Given the description of an element on the screen output the (x, y) to click on. 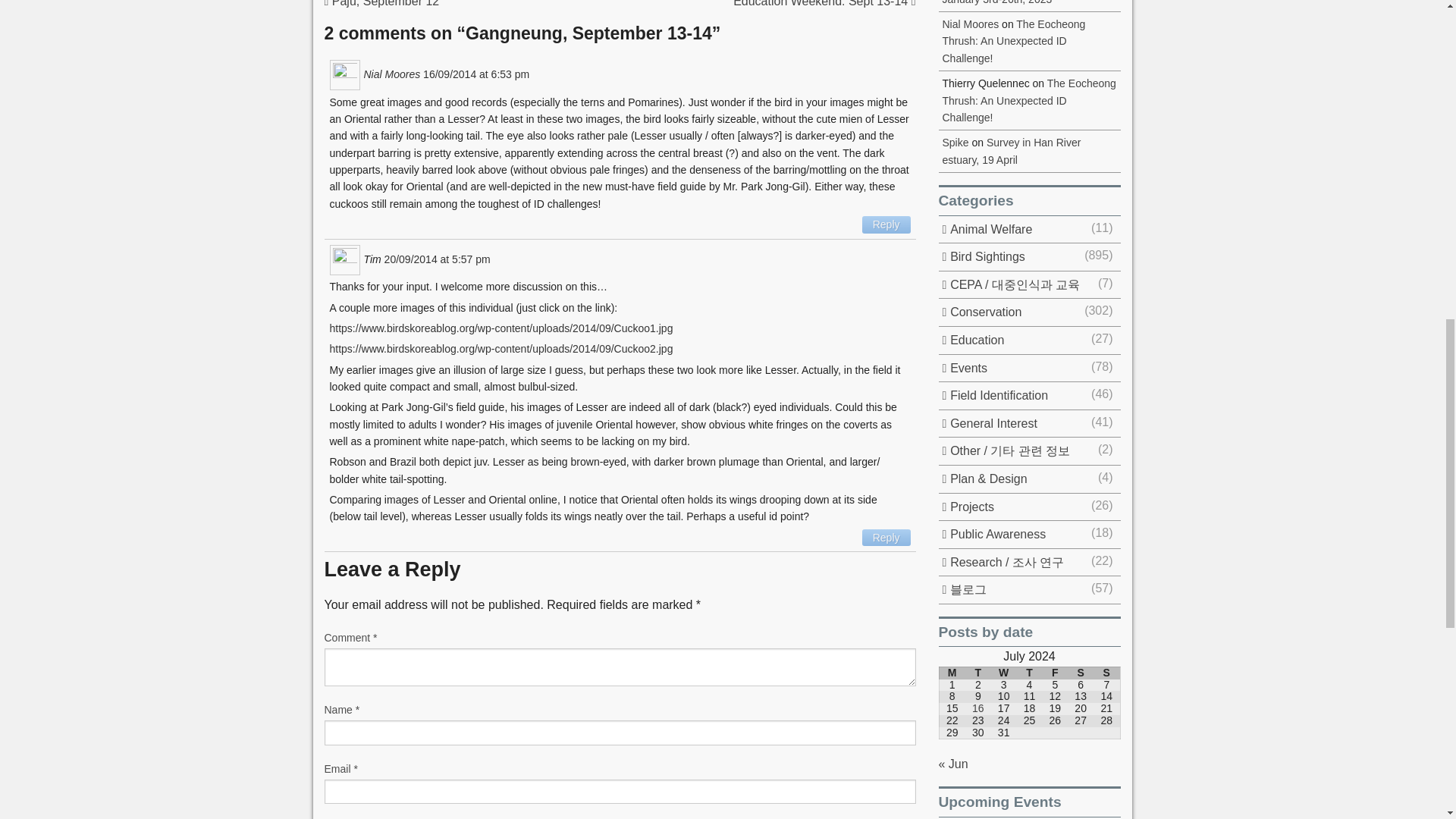
Nial Moores (392, 73)
Paju, September 12 (381, 3)
Education Weekend: Sept 13-14 (824, 3)
